Given the description of an element on the screen output the (x, y) to click on. 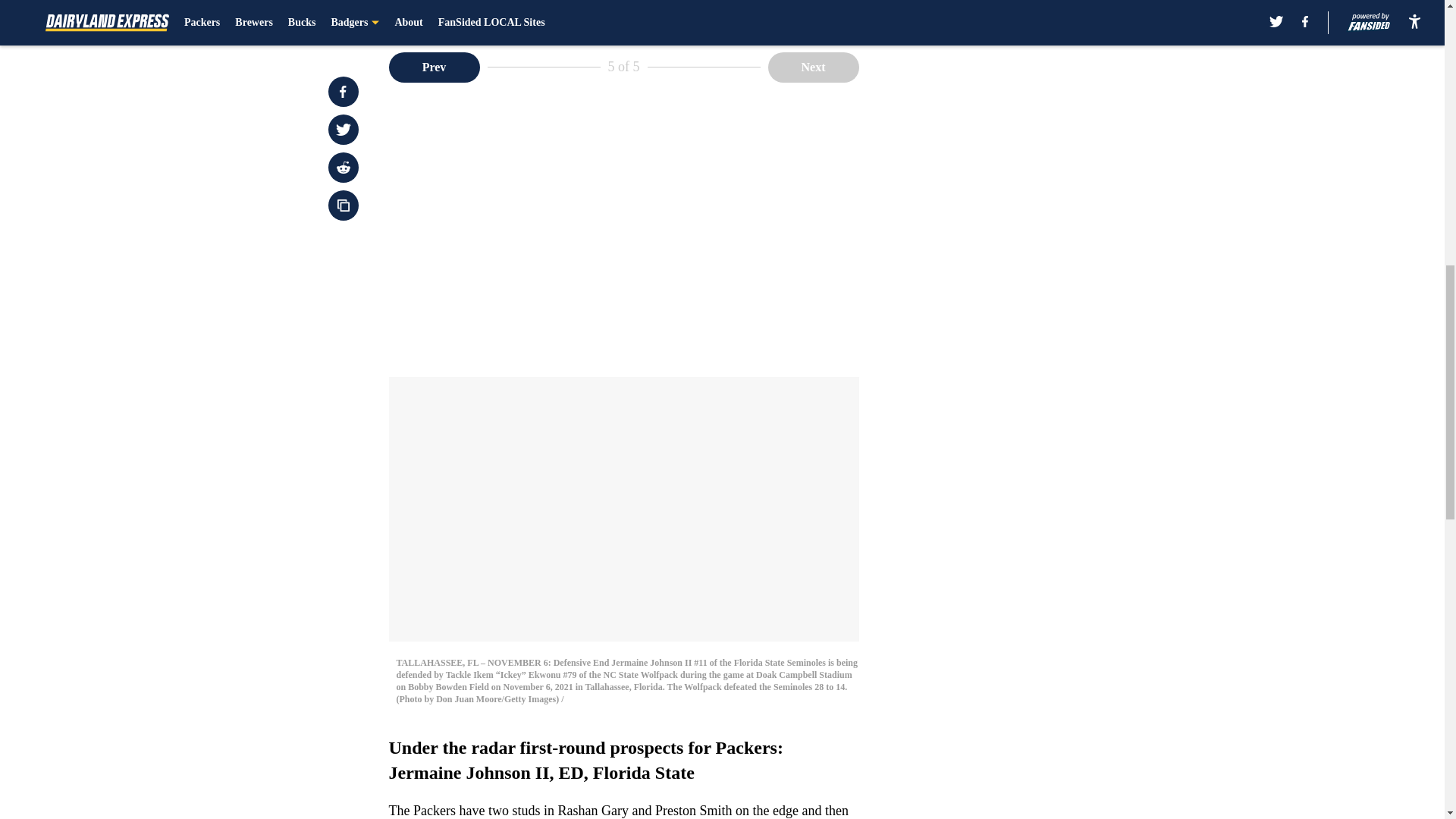
Prev (433, 66)
Next (813, 66)
